Given the description of an element on the screen output the (x, y) to click on. 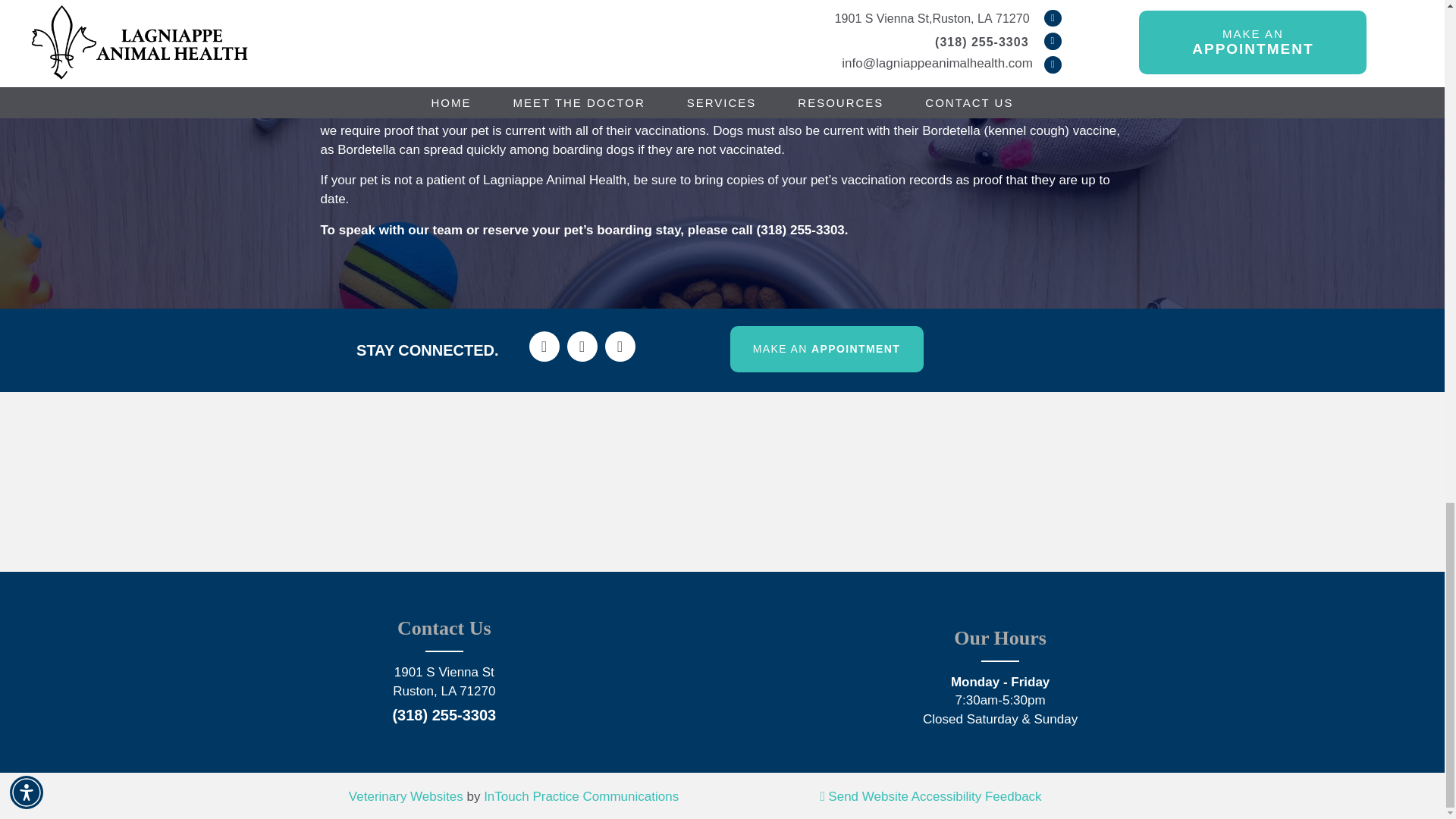
Logo White (722, 668)
Care Credit White (1035, 349)
